Given the description of an element on the screen output the (x, y) to click on. 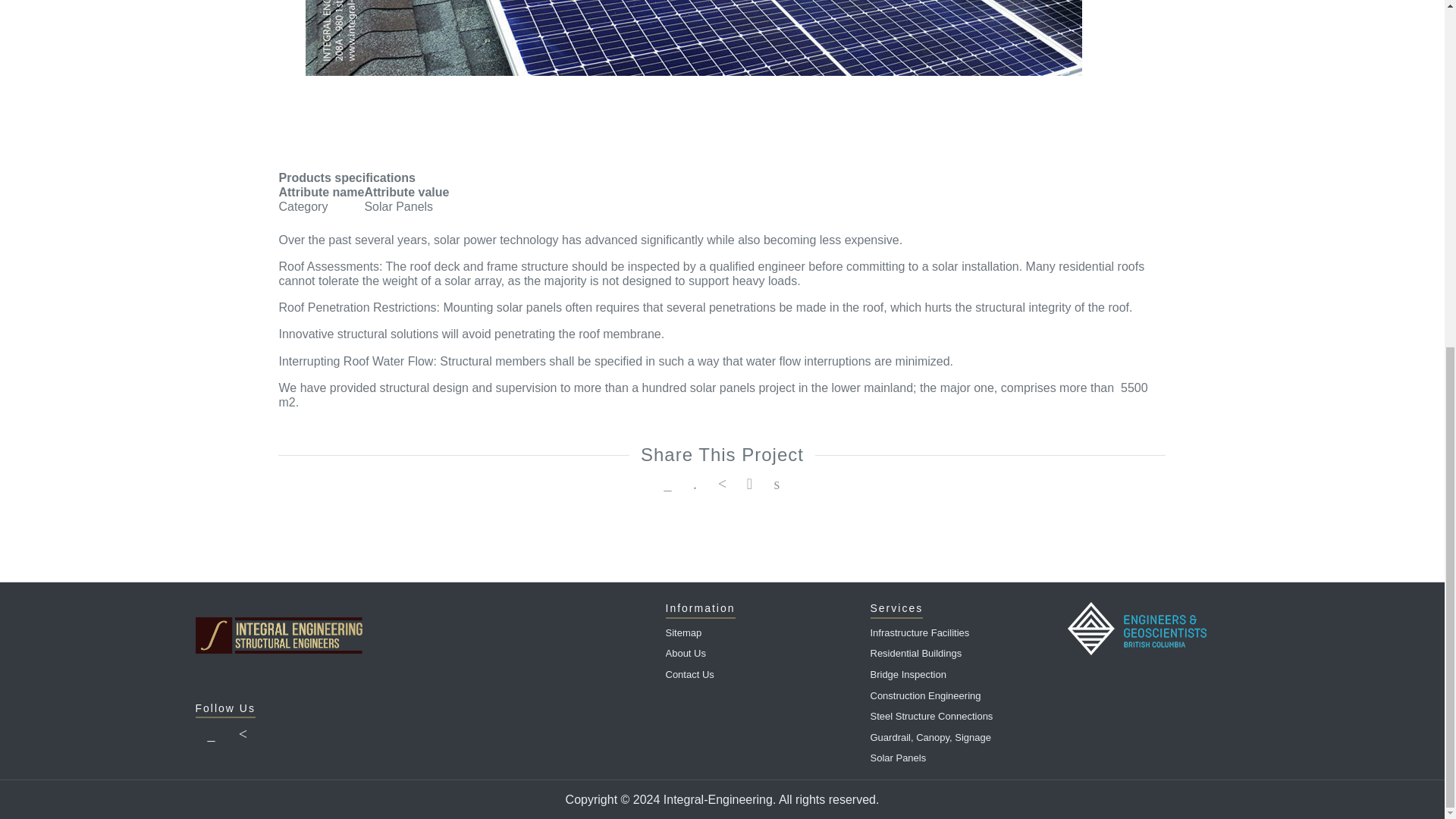
Residential Buildings (961, 653)
Linkedin (242, 735)
About Us (760, 653)
Facebook (210, 735)
Construction Engineering (961, 695)
6251 Nelson Ave (692, 38)
Infrastructure Facilities (961, 632)
Sitemap (760, 632)
Contact Us (760, 674)
Bridge Inspection (961, 674)
